Given the description of an element on the screen output the (x, y) to click on. 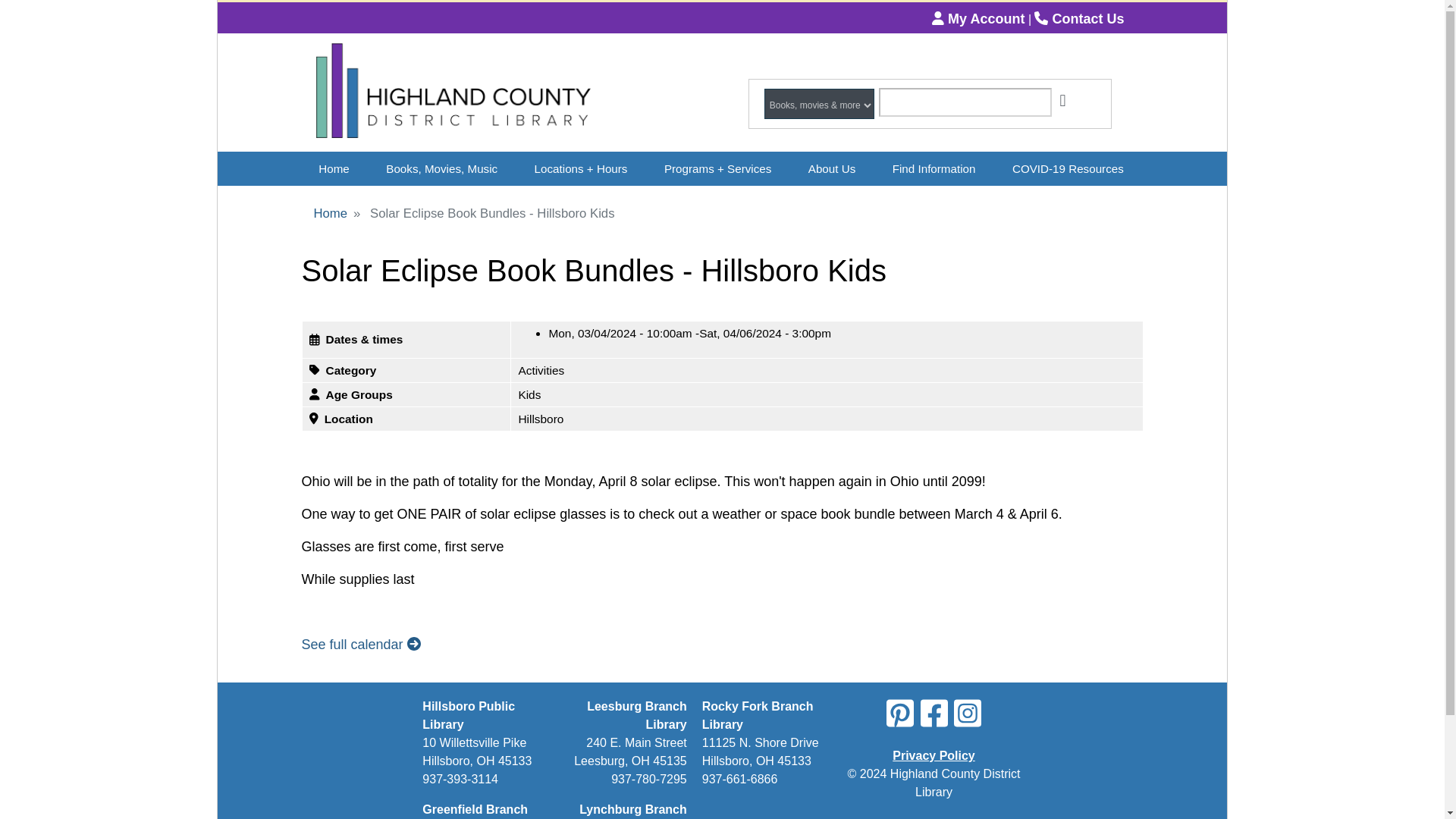
See full calendar (360, 644)
Skip to main content (721, 1)
Type your search here (965, 102)
Find Information (933, 168)
source (820, 105)
 Contact Us (1078, 17)
Home (452, 92)
Home (333, 168)
 My Account (978, 17)
Find Information (933, 168)
